Given the description of an element on the screen output the (x, y) to click on. 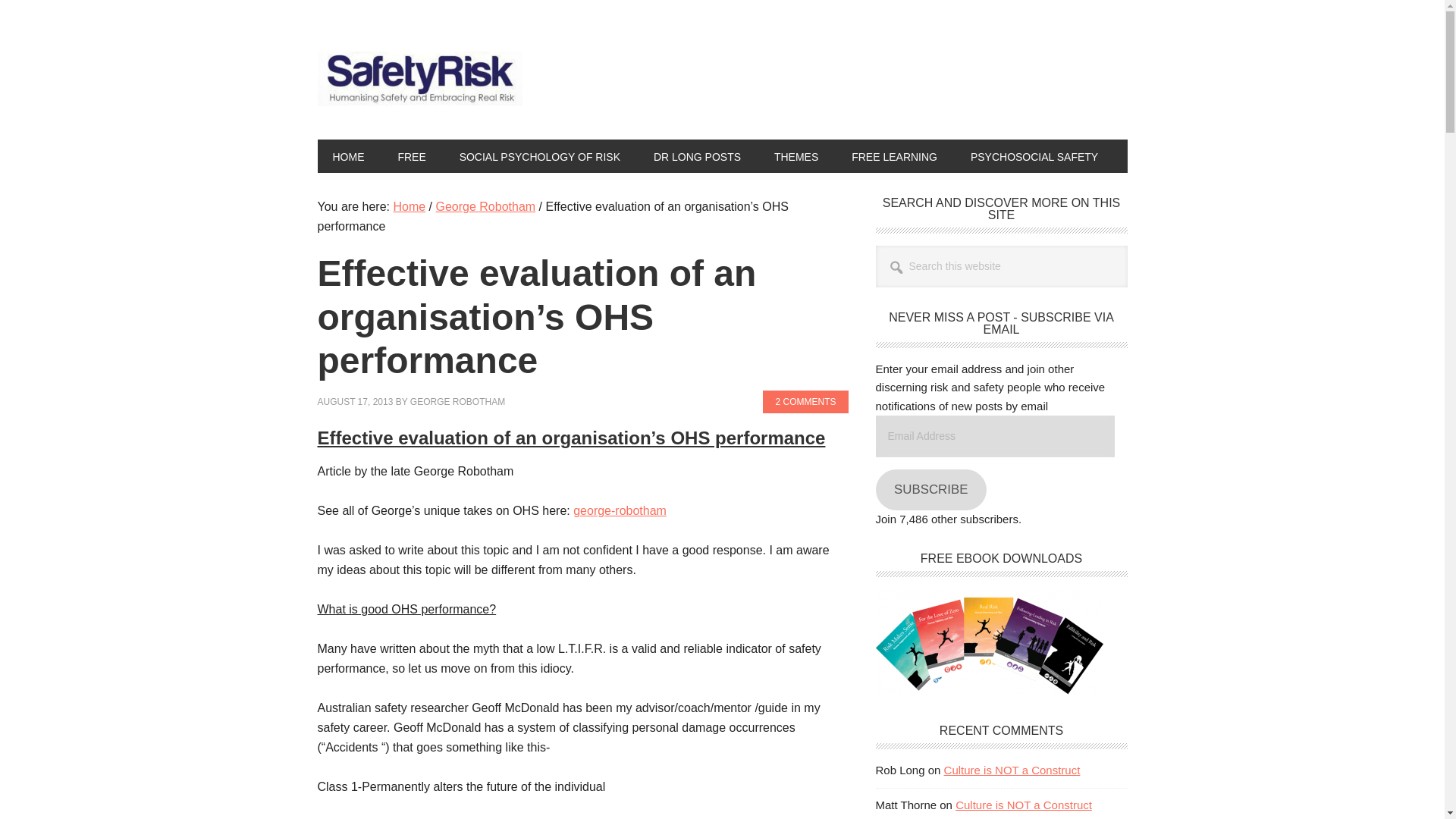
HOME (347, 155)
SAFETYRISK.NET (419, 81)
FREE (411, 155)
